Given the description of an element on the screen output the (x, y) to click on. 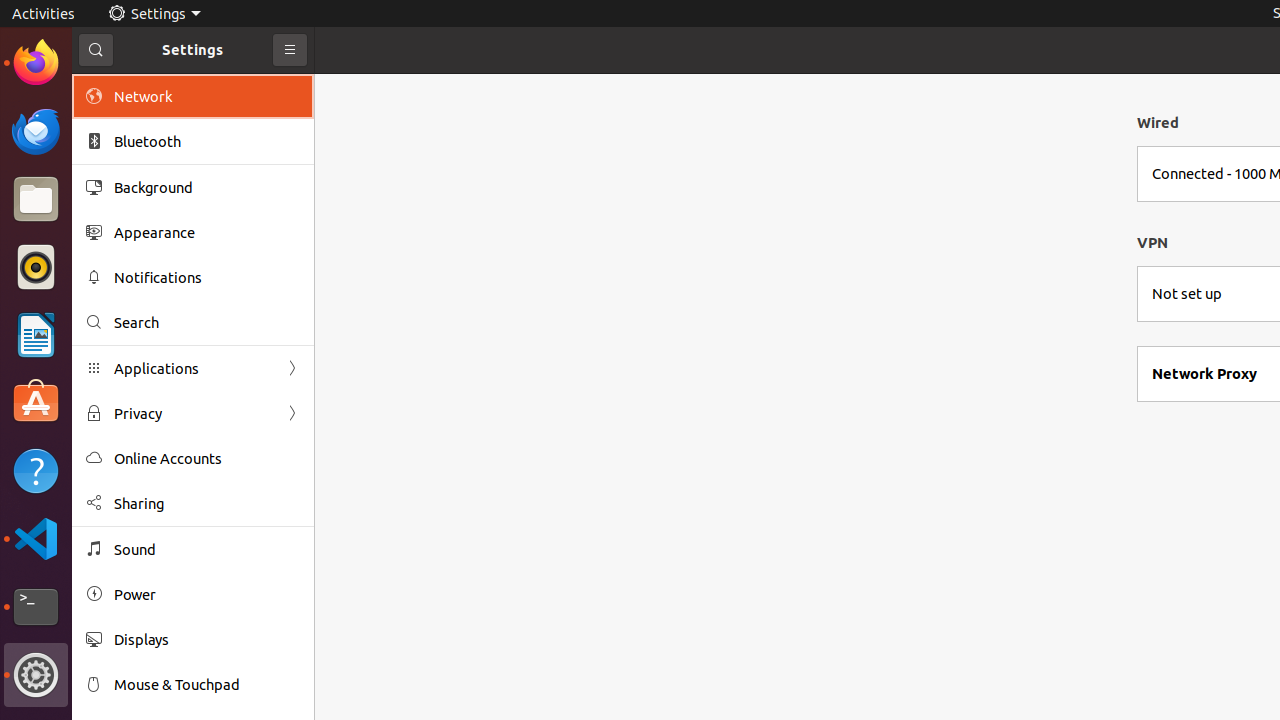
Power Element type: label (207, 594)
Forward Element type: icon (292, 413)
Activities Element type: label (43, 13)
Not set up Element type: label (1187, 293)
Settings Element type: push-button (36, 675)
